Given the description of an element on the screen output the (x, y) to click on. 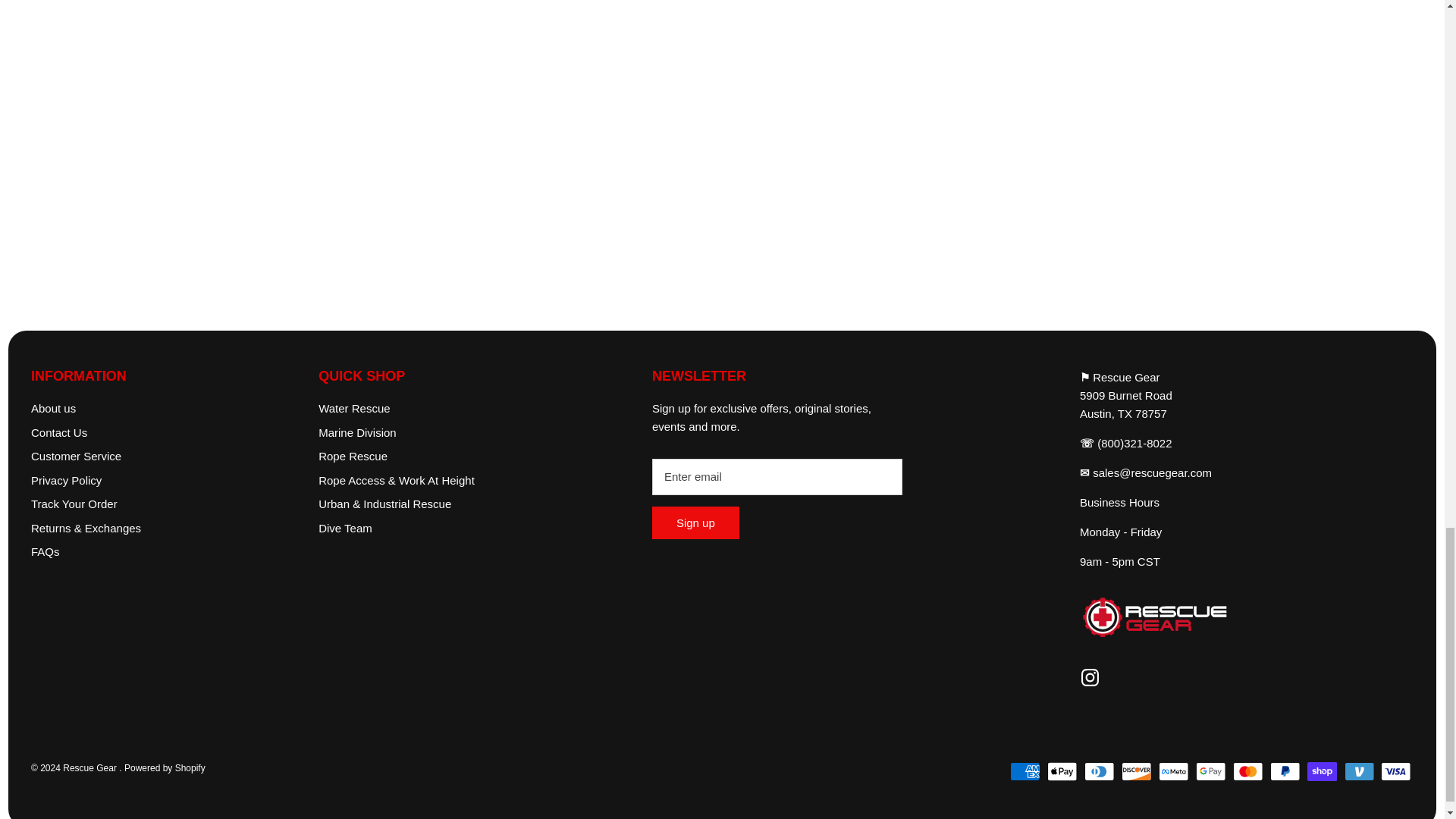
Discover (1136, 771)
Google Pay (1210, 771)
Visa (1395, 771)
PayPal (1284, 771)
Shop Pay (1322, 771)
Apple Pay (1061, 771)
Mastercard (1247, 771)
Meta Pay (1173, 771)
Diners Club (1098, 771)
Instagram (1090, 677)
Venmo (1358, 771)
American Express (1024, 771)
